Given the description of an element on the screen output the (x, y) to click on. 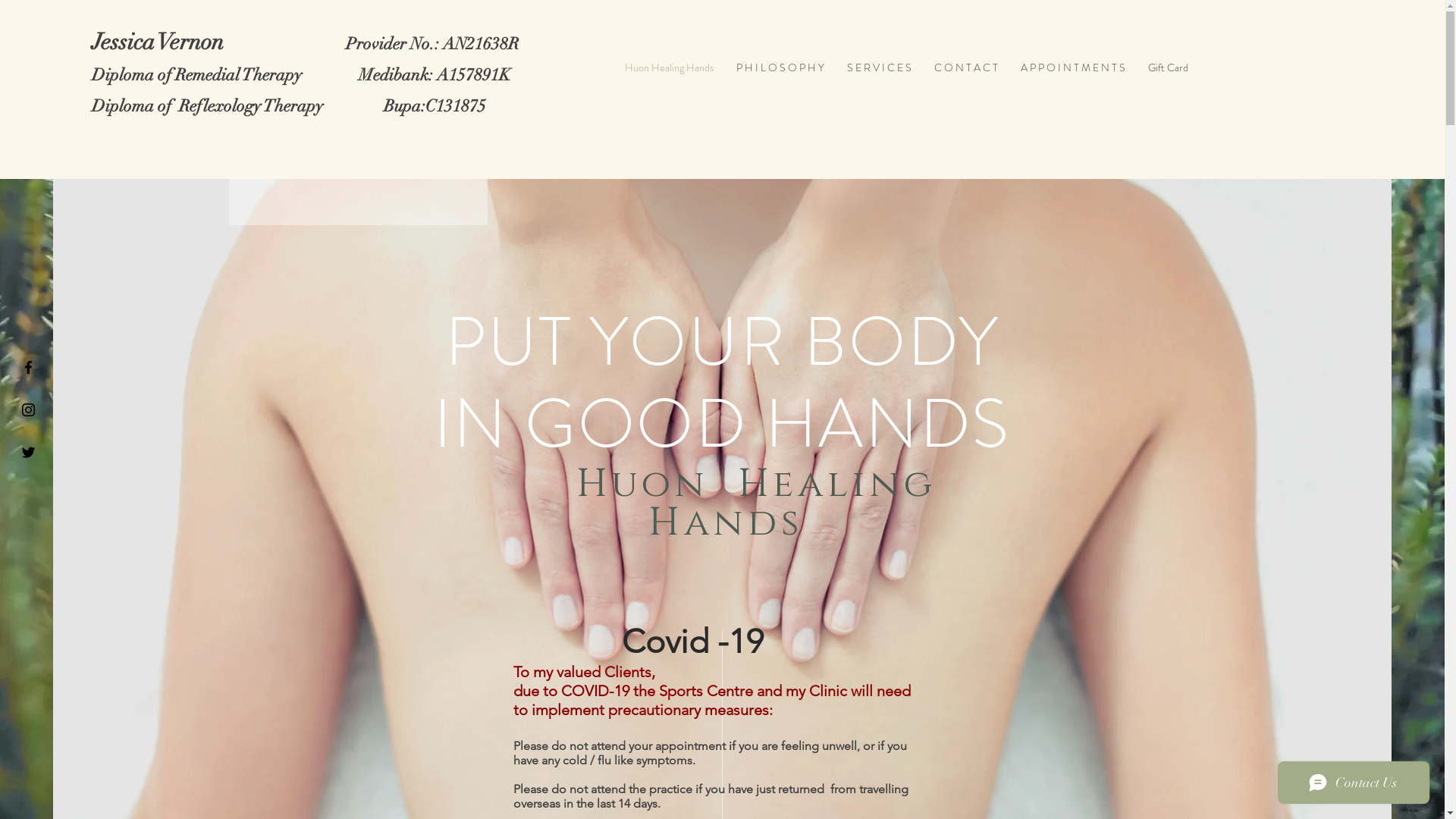
Gift Card Element type: text (1167, 67)
P H I L O S O P H Y Element type: text (779, 67)
C O N T A C T Element type: text (965, 67)
Huon Healing Hands Element type: text (668, 67)
A P P O I N T M E N T S Element type: text (1072, 67)
S E R V I C E S Element type: text (878, 67)
